Given the description of an element on the screen output the (x, y) to click on. 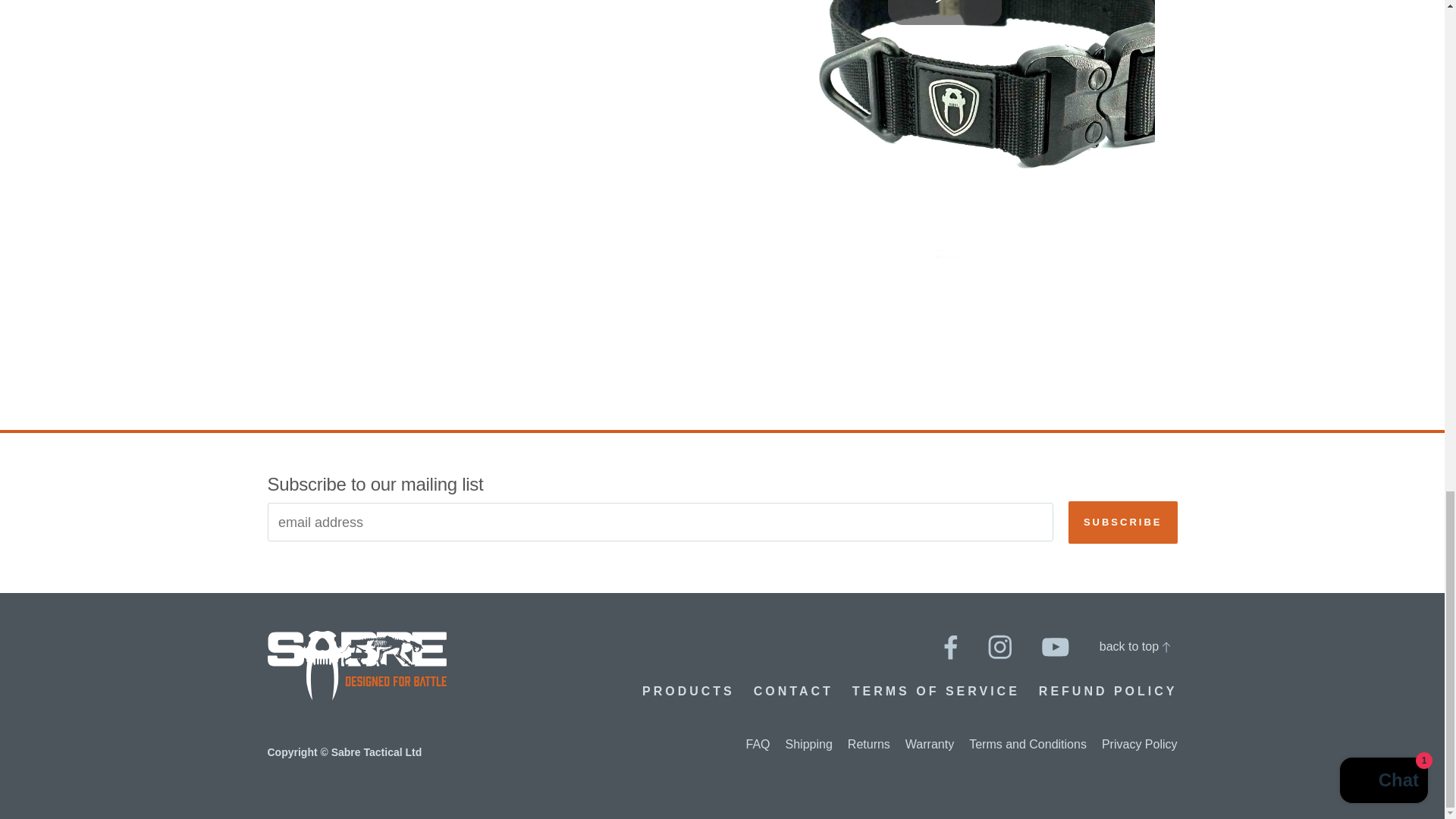
FAQ (757, 744)
back to top (1134, 646)
Terms and Conditions (1027, 744)
Subscribe (1122, 522)
Returns (868, 744)
Subscribe (1122, 522)
Warranty (929, 744)
PRODUCTS (688, 690)
Shipping (809, 744)
CONTACT (793, 690)
TERMS OF SERVICE (935, 690)
Privacy Policy (1139, 744)
REFUND POLICY (1108, 690)
